Given the description of an element on the screen output the (x, y) to click on. 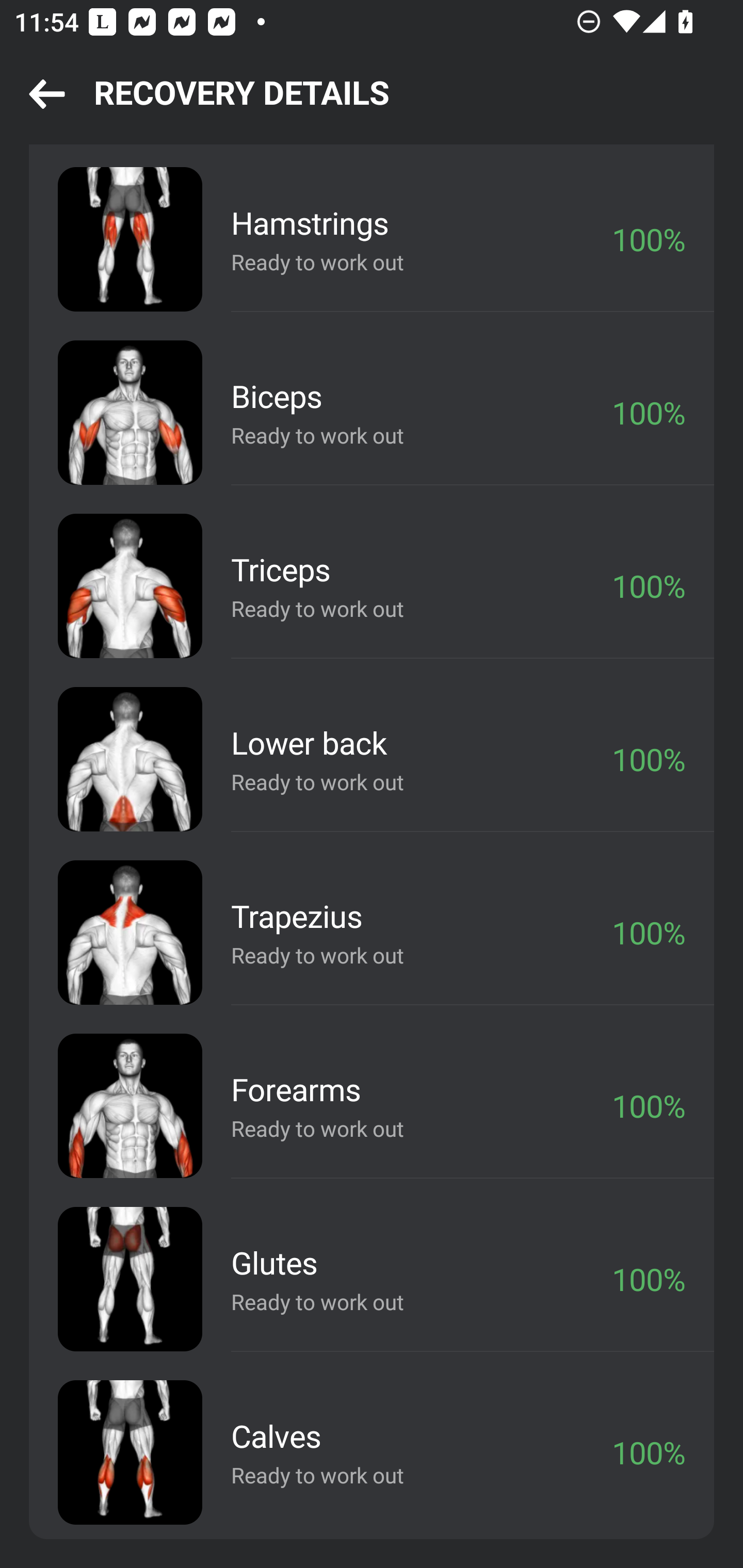
Navigation icon (46, 94)
